Given the description of an element on the screen output the (x, y) to click on. 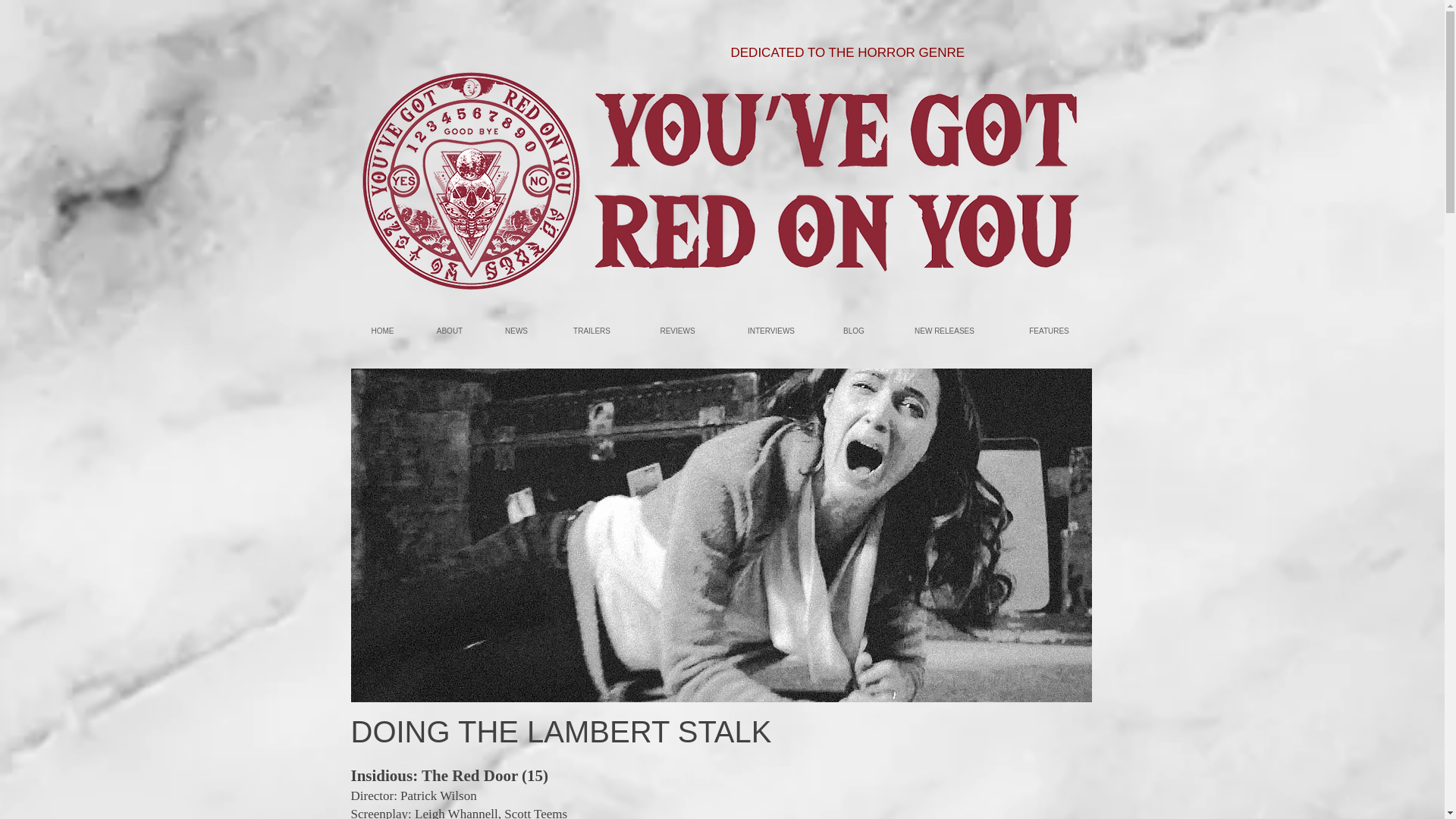
BLOG (854, 331)
NEW RELEASES (943, 331)
INTERVIEWS (770, 331)
TRAILERS (590, 331)
REVIEWS (676, 331)
NEWS (516, 331)
FEATURES (1048, 331)
HOME (381, 331)
ABOUT (448, 331)
